Given the description of an element on the screen output the (x, y) to click on. 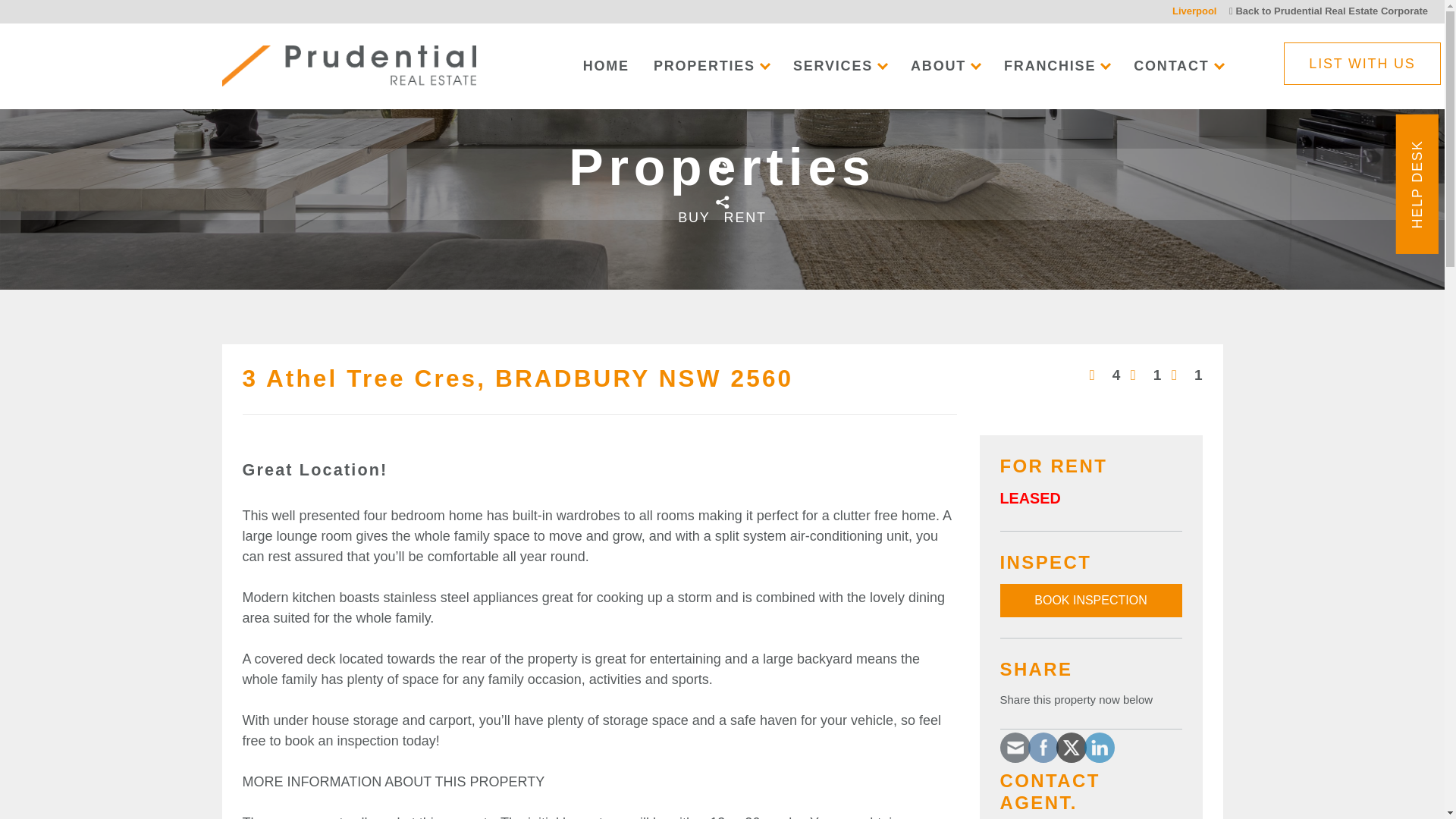
Bathrooms (1146, 375)
SERVICES (839, 65)
Follow by Email (1015, 747)
Facebook (1042, 747)
Prudential Real Estate (348, 65)
PROPERTIES (710, 65)
LinkedIn (1098, 747)
Bedrooms (1105, 375)
Parking Spaces (1187, 375)
Twitter (1071, 747)
Back to Prudential Real Estate Corporate (1324, 10)
Chat (1409, 733)
